Given the description of an element on the screen output the (x, y) to click on. 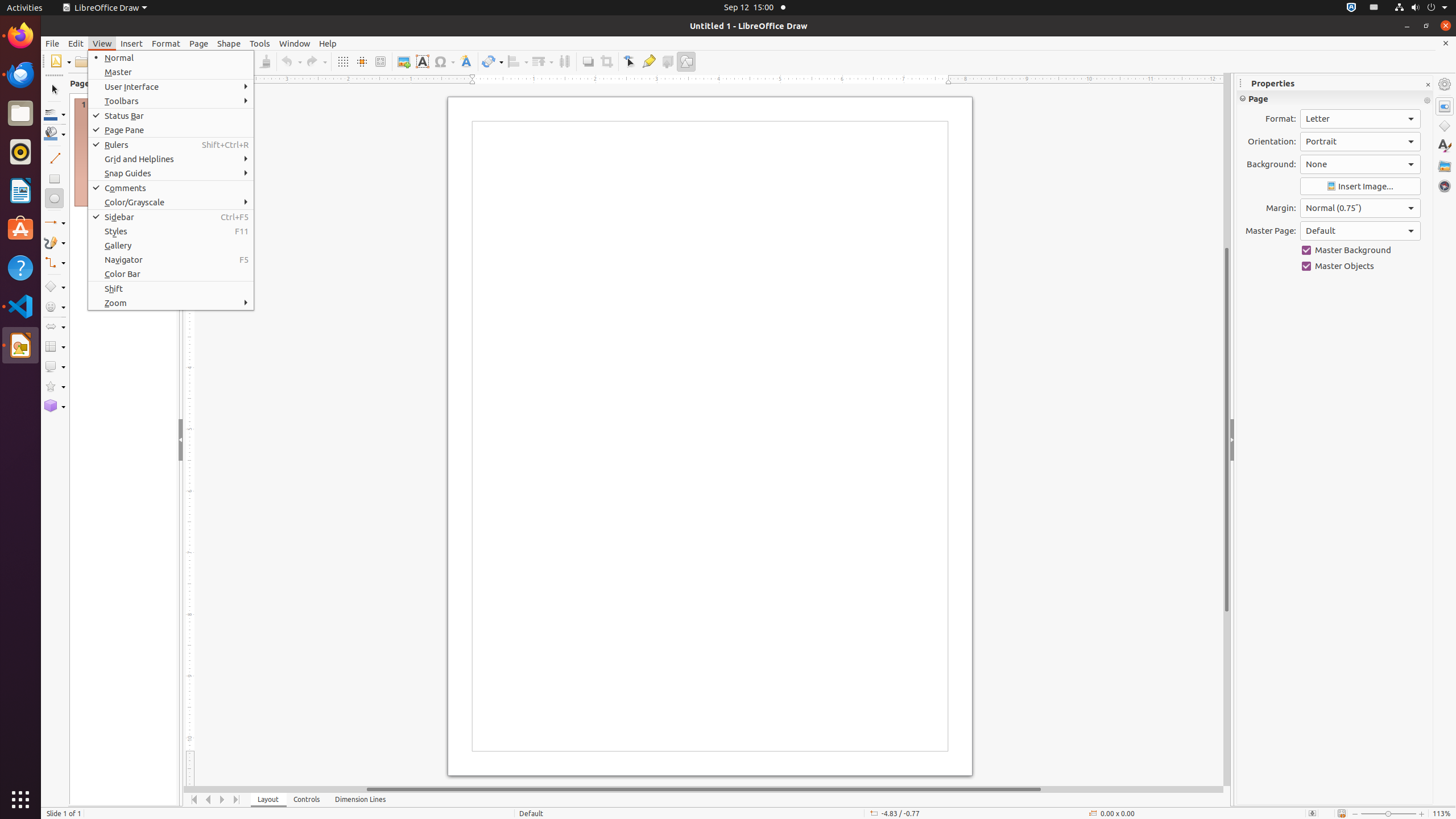
Layout Element type: page-tab (268, 799)
Show Applications Element type: toggle-button (20, 799)
Rhythmbox Element type: push-button (20, 151)
Move Right Element type: push-button (222, 799)
